Given the description of an element on the screen output the (x, y) to click on. 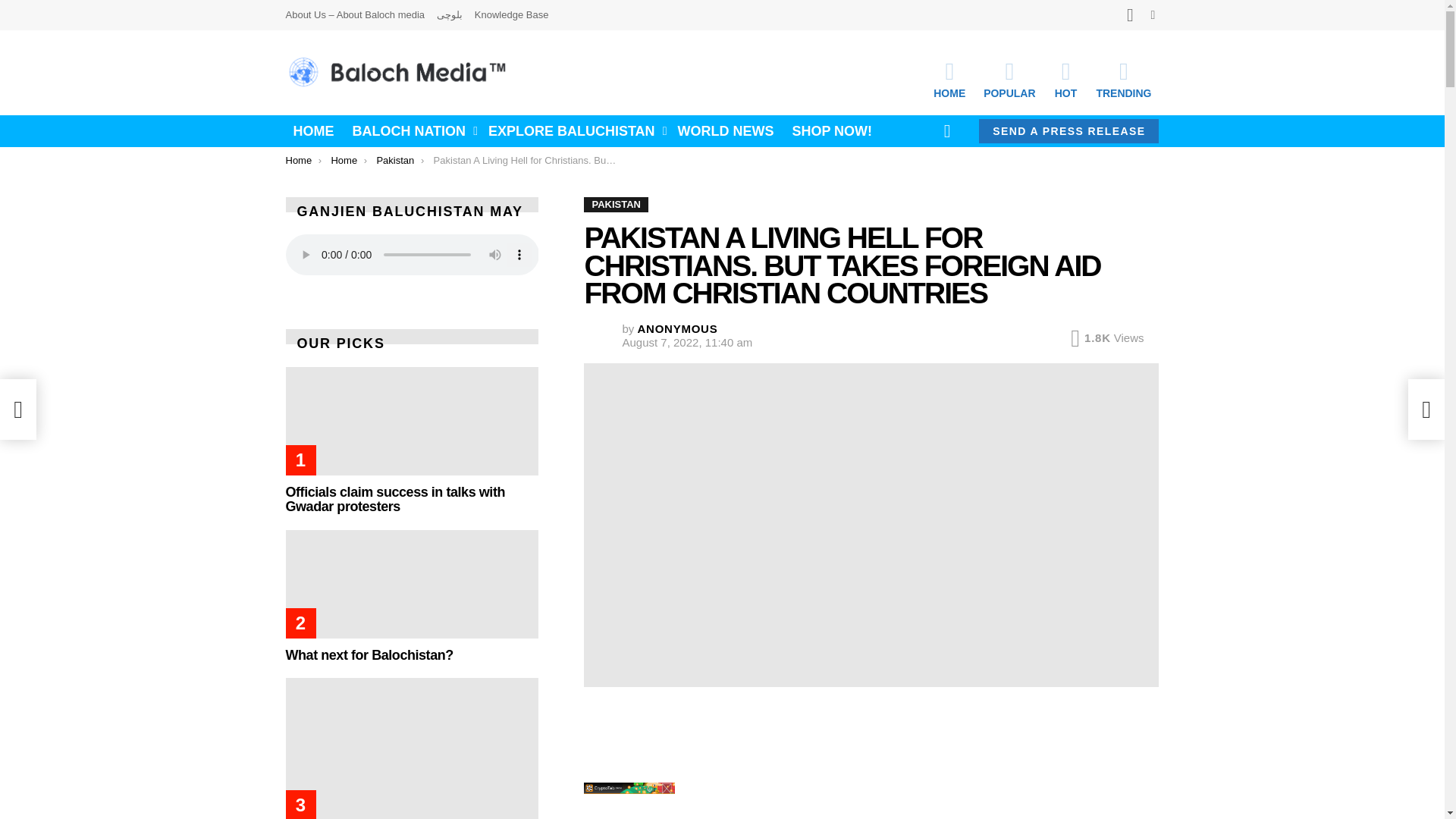
SEND A PRESS RELEASE (1068, 130)
BALOCH NATION (410, 130)
POPULAR (1008, 78)
Posts by Anonymous (677, 328)
WORLD NEWS (725, 130)
SHOP NOW! (831, 130)
HOME (949, 78)
EXPLORE BALUCHISTAN (573, 130)
HOT (1064, 78)
HOME (312, 130)
Knowledge Base (511, 15)
TRENDING (1122, 78)
